Given the description of an element on the screen output the (x, y) to click on. 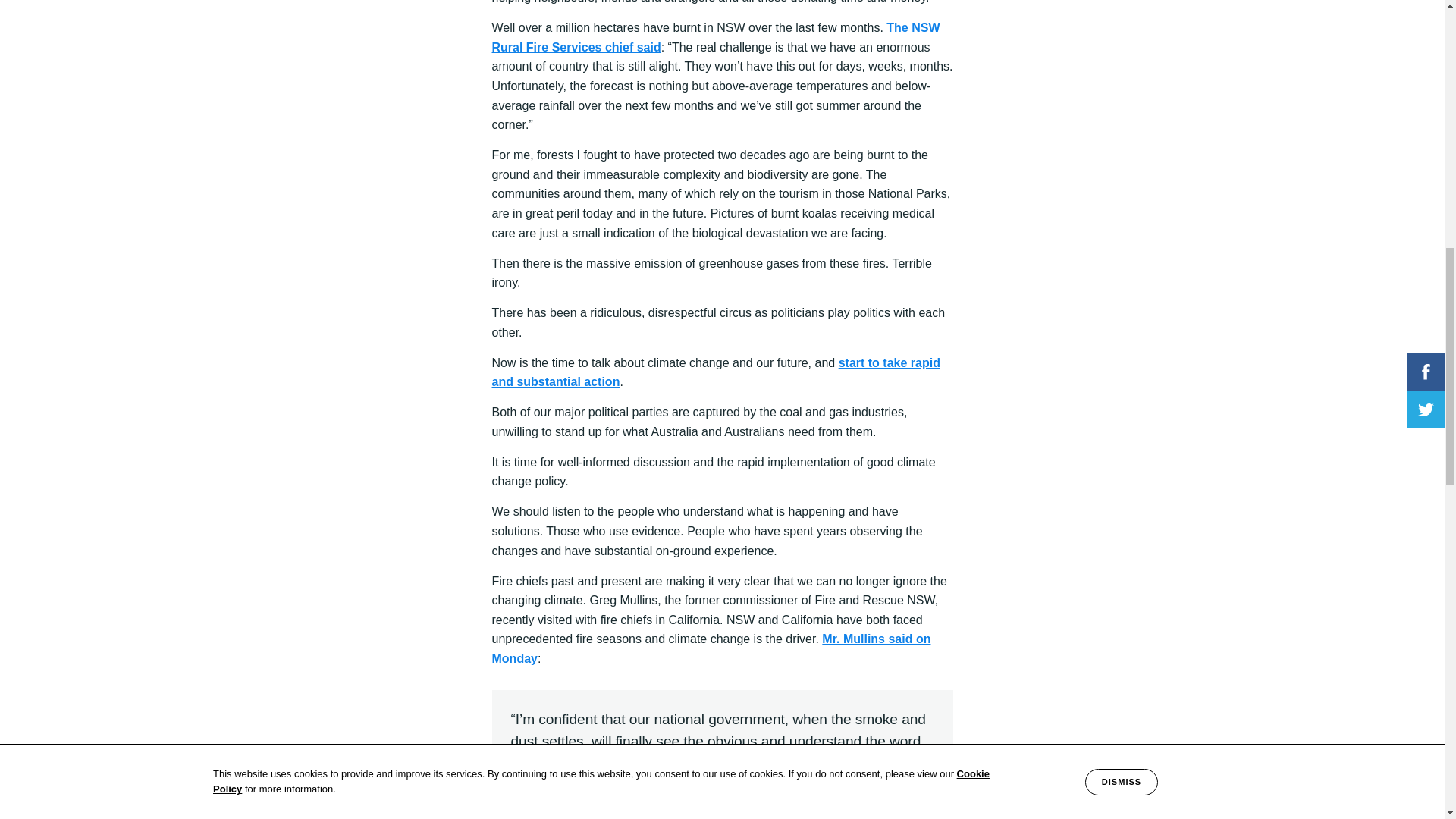
The NSW Rural Fire Services chief said (715, 37)
Mr. Mullins said on Monday (711, 648)
start to take rapid and substantial action (715, 372)
